Given the description of an element on the screen output the (x, y) to click on. 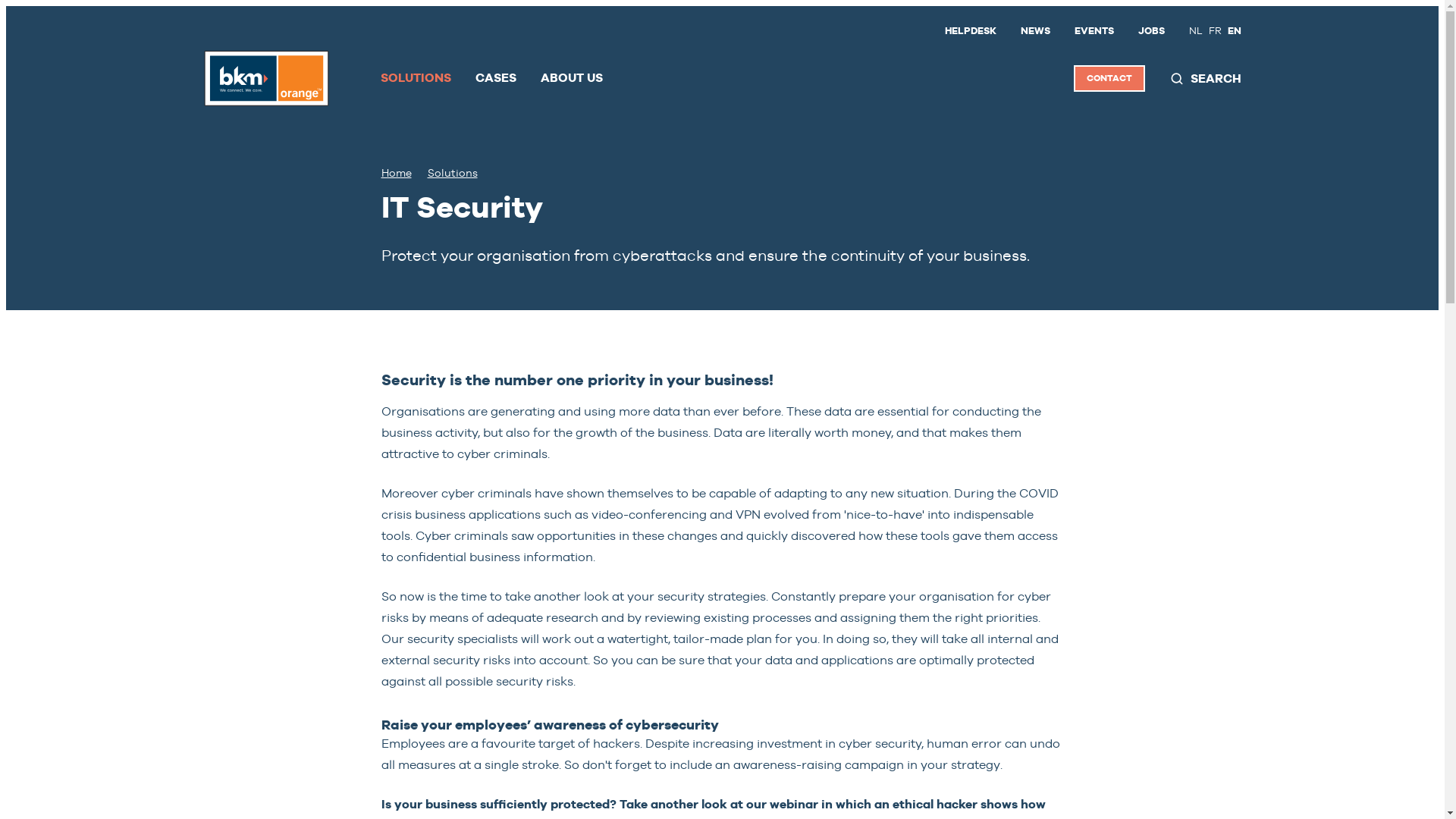
CASES Element type: text (494, 77)
NL Element type: text (1195, 30)
EN Element type: text (1233, 30)
EVENTS Element type: text (1093, 30)
ABOUT US Element type: text (570, 77)
SOLUTIONS Element type: text (415, 77)
Home Element type: text (395, 172)
BKM - Orange | We connect. We care. Element type: hover (265, 78)
Solutions Element type: text (452, 172)
NEWS Element type: text (1035, 30)
HELPDESK Element type: text (970, 30)
FR Element type: text (1214, 30)
JOBS Element type: text (1150, 30)
CONTACT Element type: text (1109, 78)
